Given the description of an element on the screen output the (x, y) to click on. 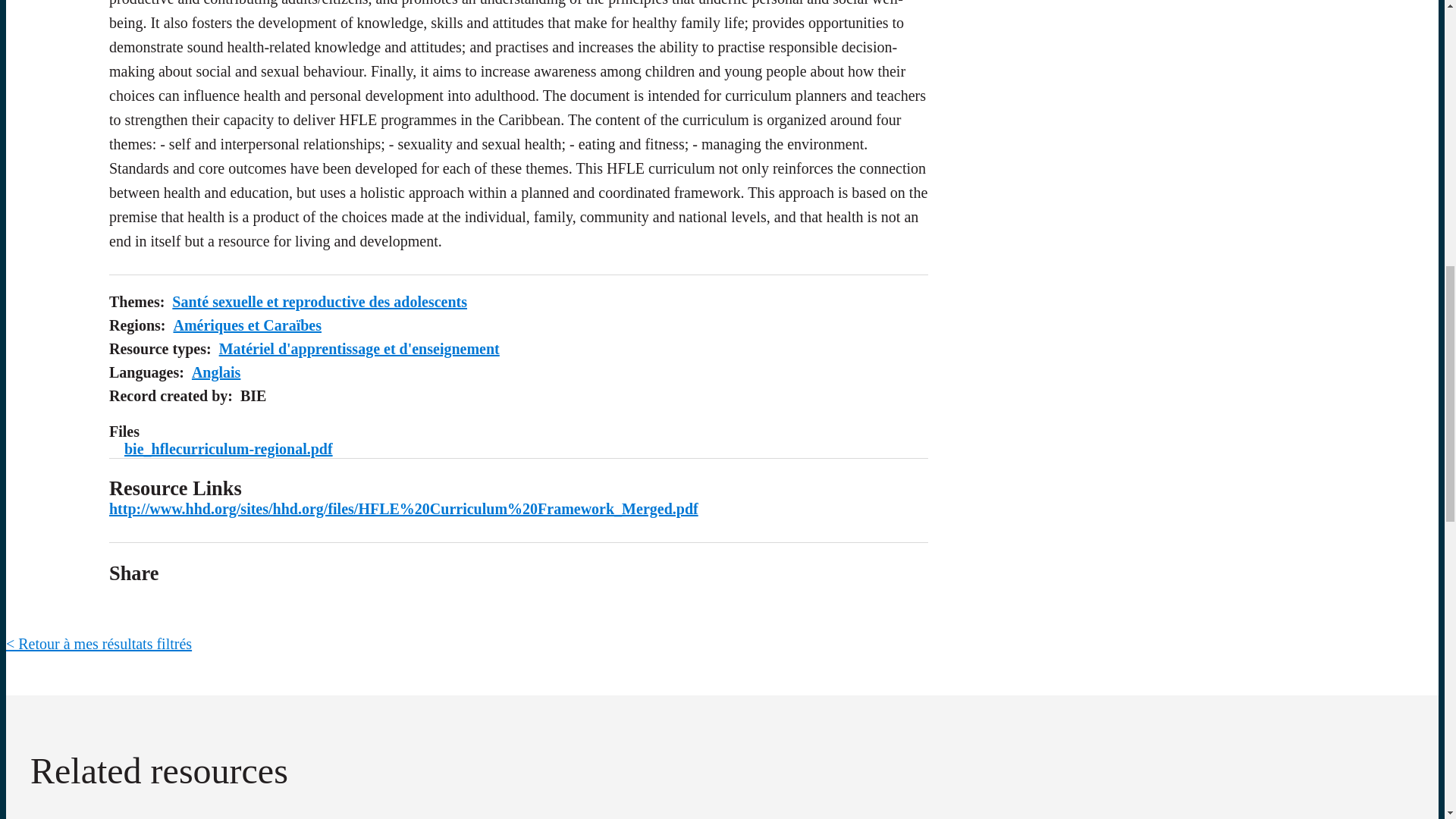
Anglais (216, 371)
